Given the description of an element on the screen output the (x, y) to click on. 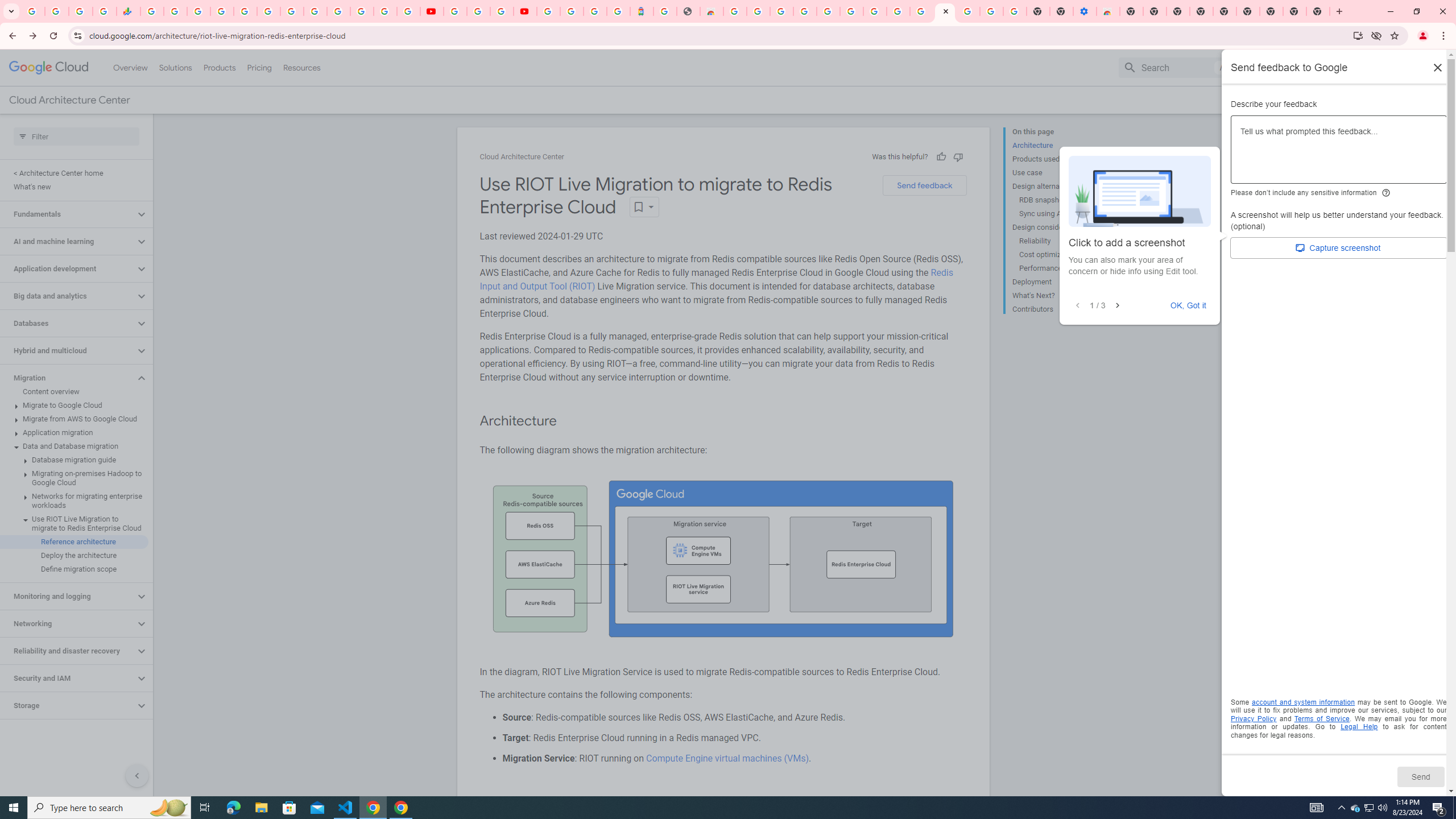
Migrate from AWS to Google Cloud (74, 418)
Architecture (1058, 145)
Docs, selected (1264, 67)
Networking (67, 623)
Create your Google Account (757, 11)
Next (1117, 305)
Reliability and disaster recovery (67, 650)
Design considerations (1058, 227)
